Given the description of an element on the screen output the (x, y) to click on. 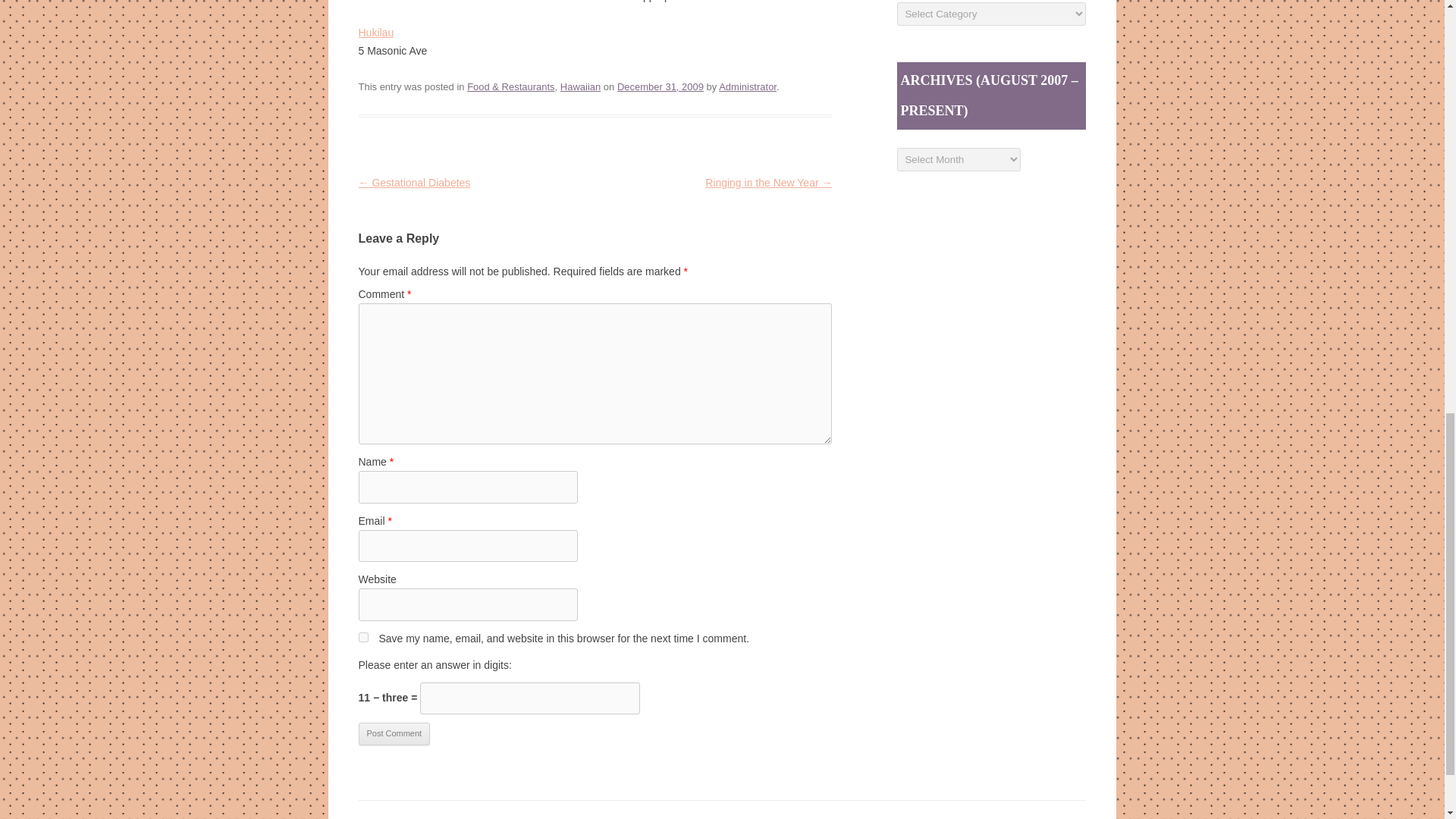
6:36 pm (660, 86)
Administrator (747, 86)
View all posts by Administrator (747, 86)
Post Comment (393, 733)
Hukilau (375, 32)
Hawaiian (579, 86)
December 31, 2009 (660, 86)
Post Comment (393, 733)
yes (363, 637)
